Given the description of an element on the screen output the (x, y) to click on. 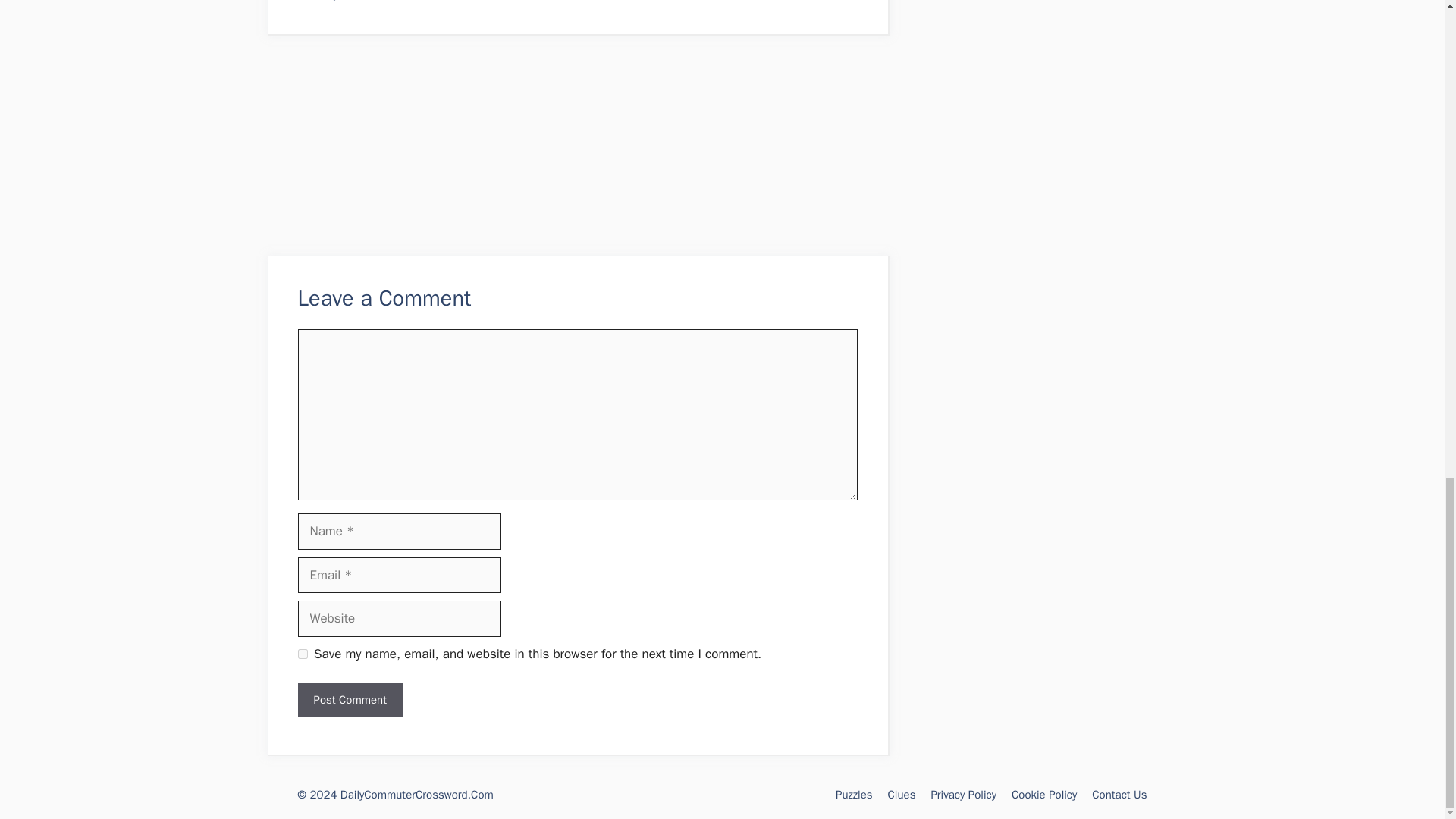
Privacy Policy (962, 794)
Contact Us (1119, 794)
Clues (901, 794)
Puzzles (853, 794)
yes (302, 654)
Cookie Policy (1044, 794)
Post Comment (349, 700)
Post Comment (349, 700)
Daily Commuter Clues (368, 0)
